Given the description of an element on the screen output the (x, y) to click on. 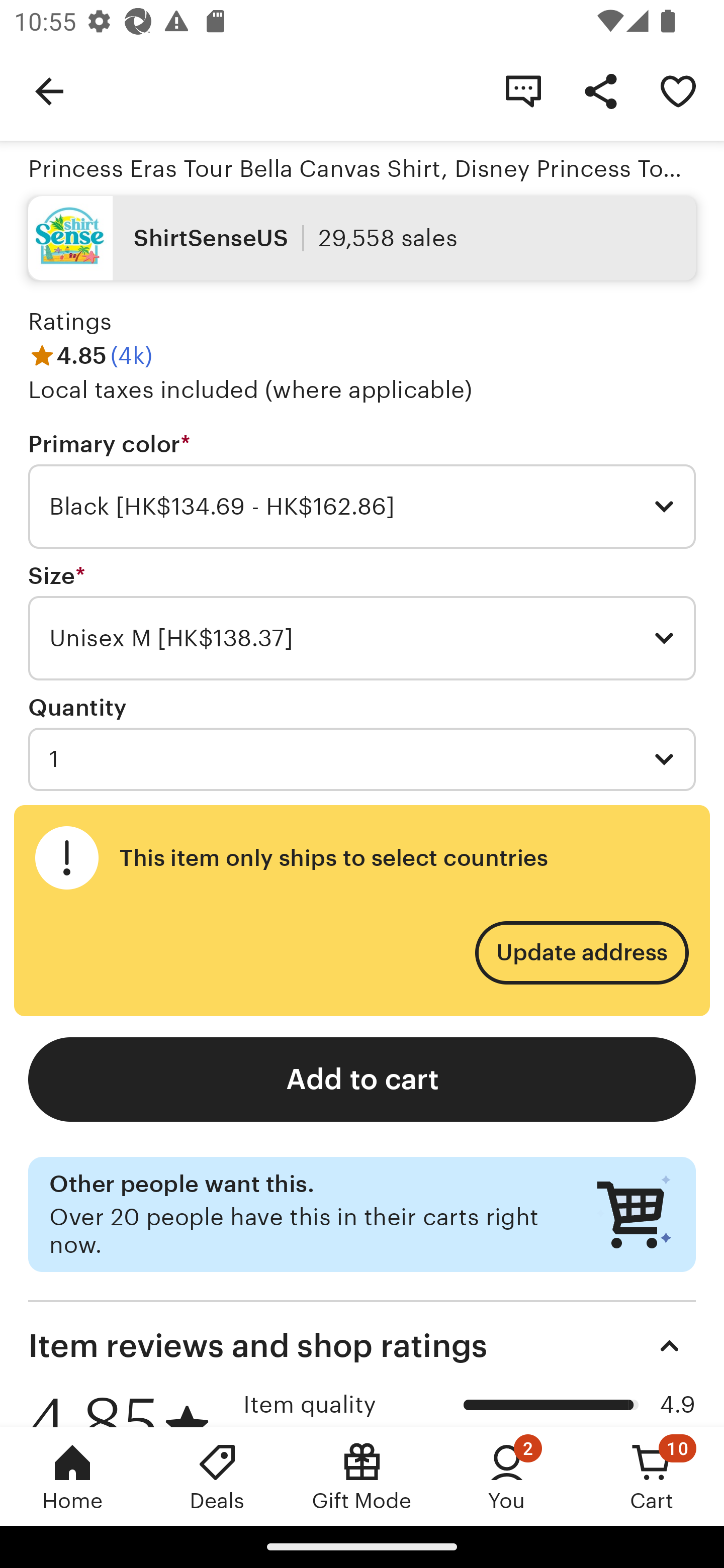
Navigate up (49, 90)
Contact shop (523, 90)
Share (600, 90)
ShirtSenseUS 29,558 sales (361, 238)
Ratings (70, 320)
4.85 (4k) (90, 355)
Black [HK$134.69 - HK$162.86] (361, 506)
Size * Required Unisex M [HK$138.37] (361, 621)
Unisex M [HK$138.37] (361, 637)
Quantity (77, 707)
1 (361, 758)
Update address (581, 953)
Add to cart (361, 1079)
Item reviews and shop ratings (362, 1345)
Deals (216, 1475)
Gift Mode (361, 1475)
You, 2 new notifications You (506, 1475)
Cart, 10 new notifications Cart (651, 1475)
